Given the description of an element on the screen output the (x, y) to click on. 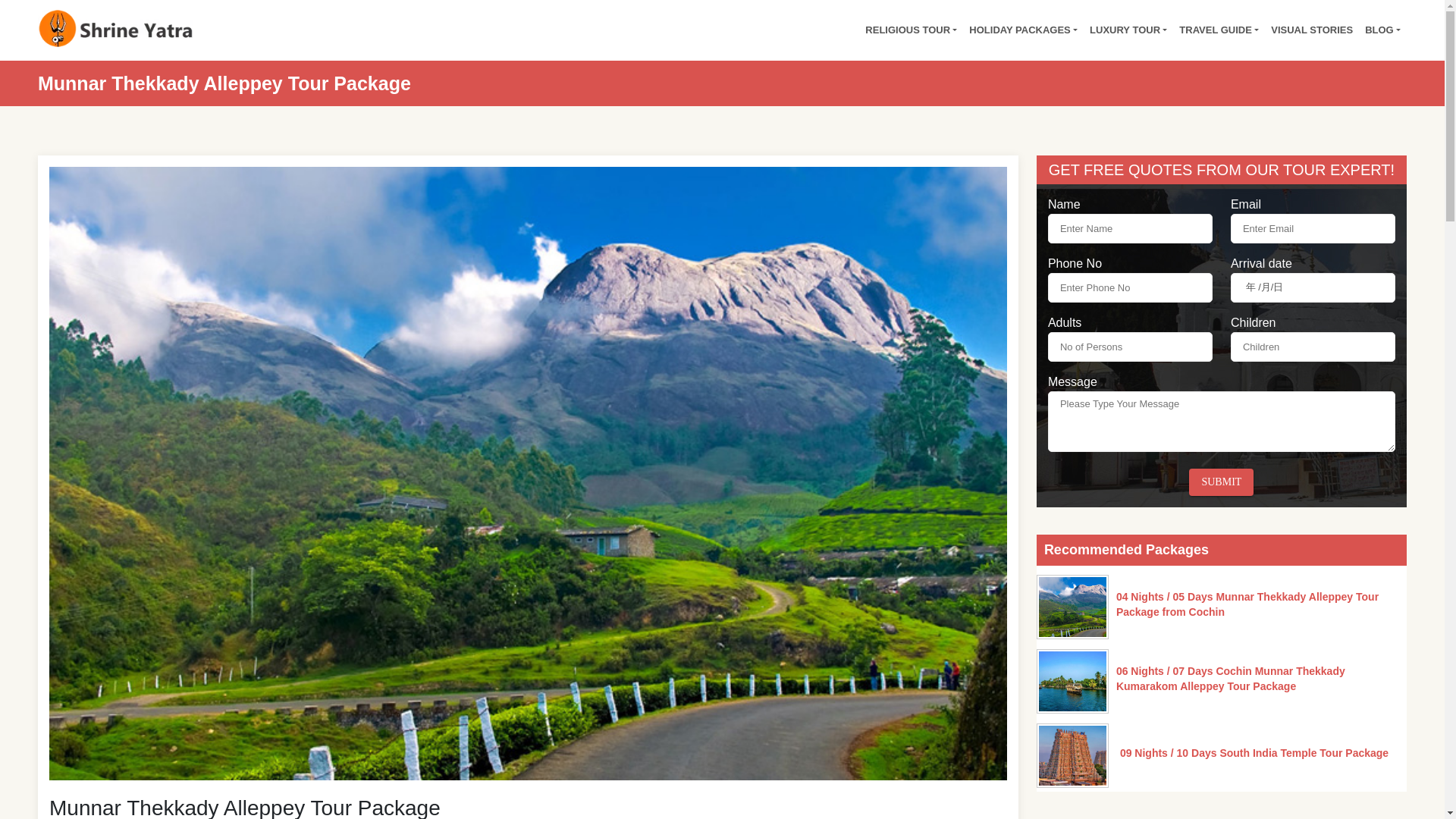
Submit (1221, 482)
HOLIDAY PACKAGES (1022, 29)
RELIGIOUS TOUR (910, 29)
